Given the description of an element on the screen output the (x, y) to click on. 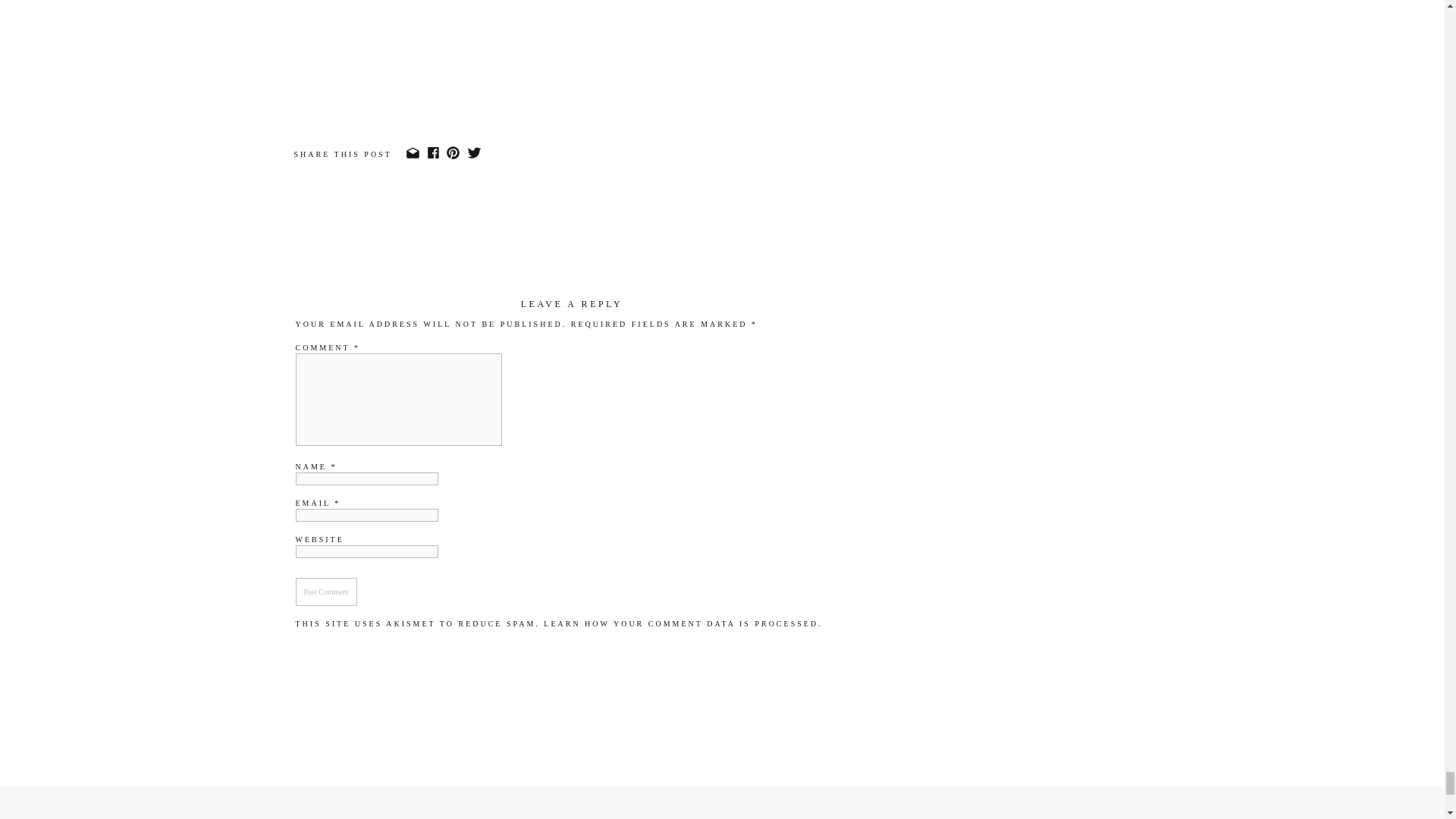
Post Comment (325, 592)
LEARN HOW YOUR COMMENT DATA IS PROCESSED (680, 623)
Post Comment (325, 592)
